Given the description of an element on the screen output the (x, y) to click on. 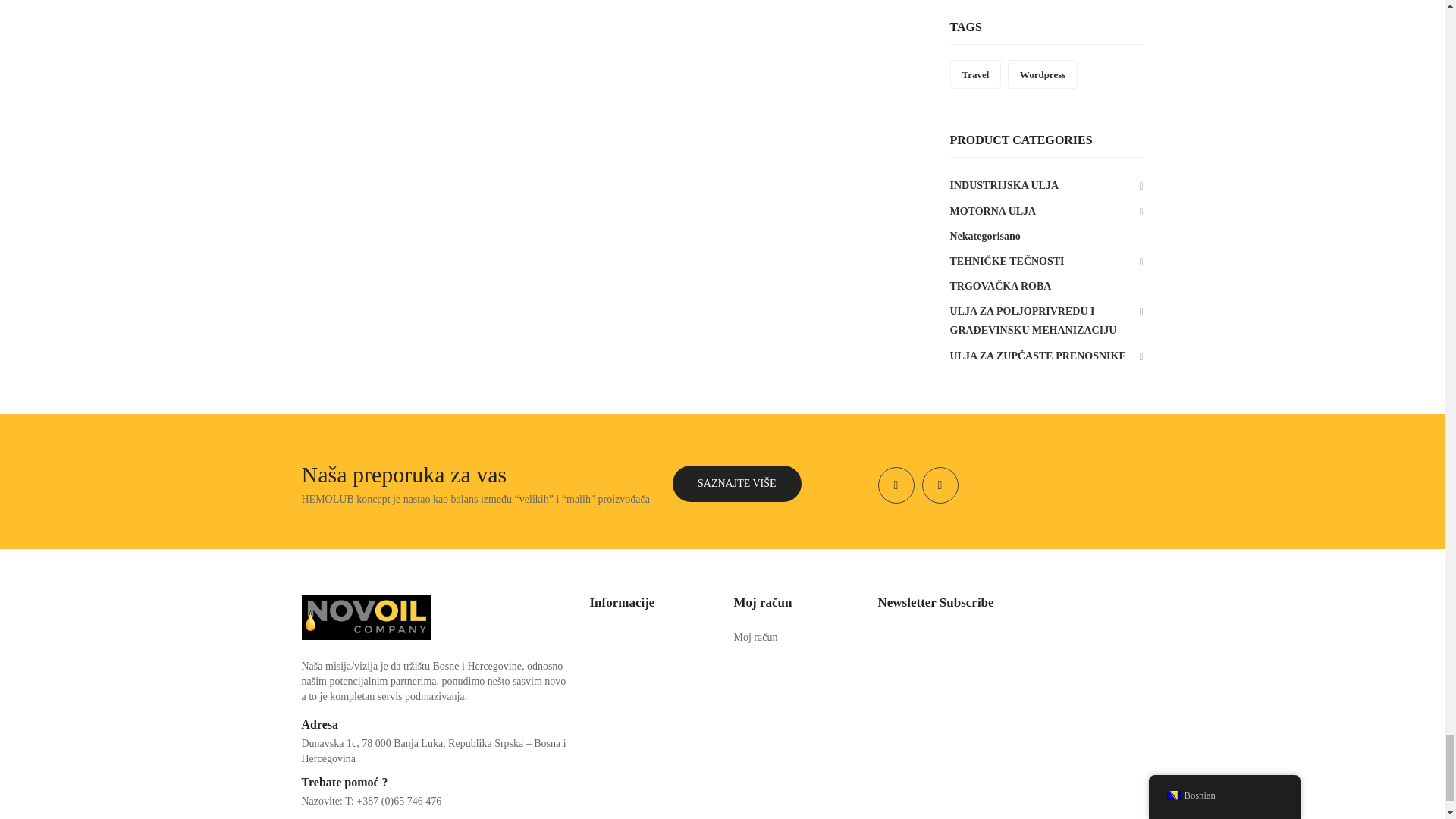
NovOil (365, 615)
Instagram (939, 484)
Facebook (895, 484)
